Given the description of an element on the screen output the (x, y) to click on. 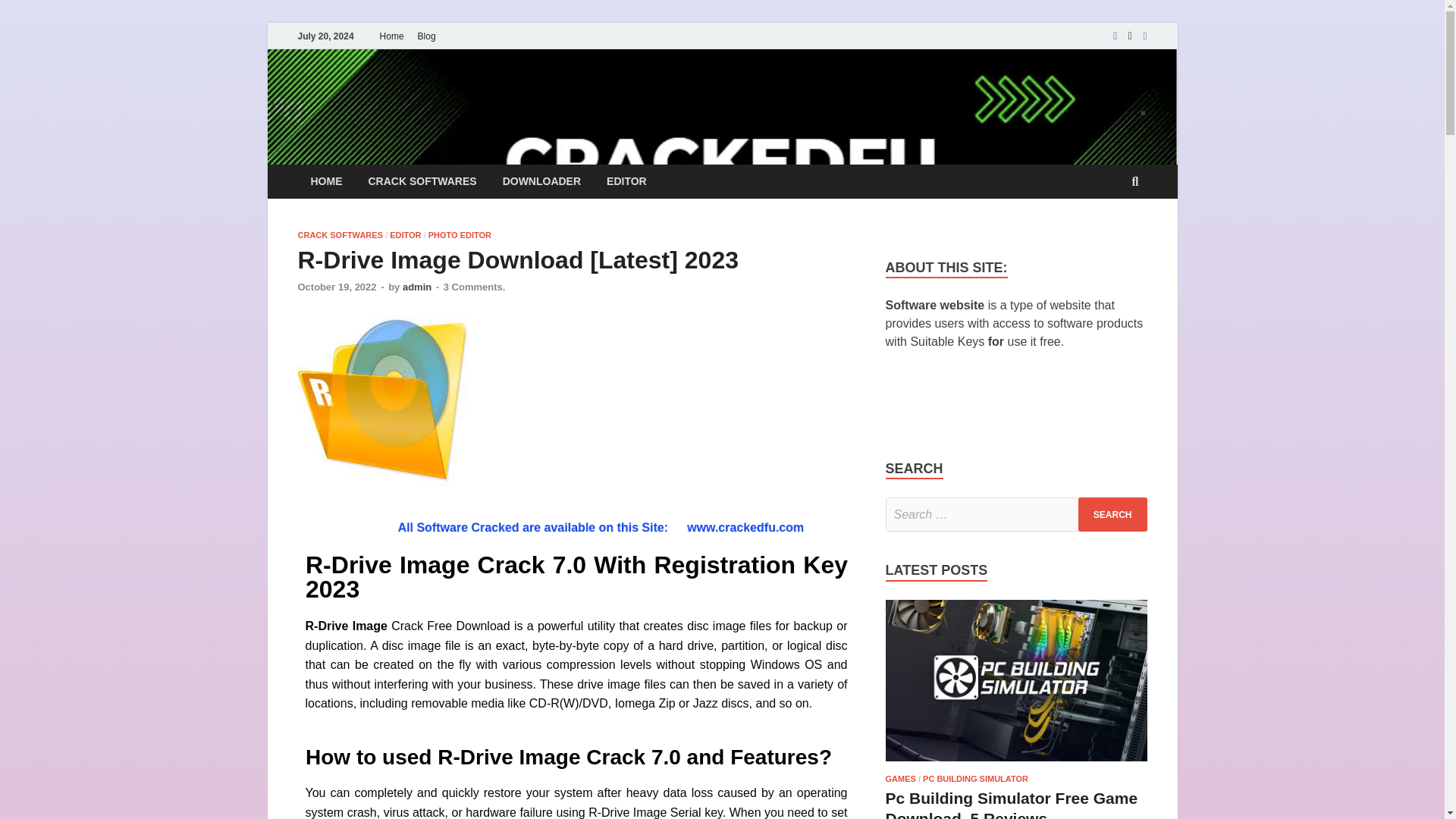
3 Comments. (474, 286)
Home (391, 35)
DOWNLOADER (541, 181)
Cracked FU (384, 100)
Pc Building Simulator Free Game Download, 5 Reviews (1016, 764)
CRACK SOFTWARES (339, 234)
Search (1112, 514)
October 19, 2022 (336, 286)
admin (416, 286)
PHOTO EDITOR (460, 234)
HOME (326, 181)
EDITOR (405, 234)
Search (1112, 514)
CRACK SOFTWARES (422, 181)
EDITOR (626, 181)
